Given the description of an element on the screen output the (x, y) to click on. 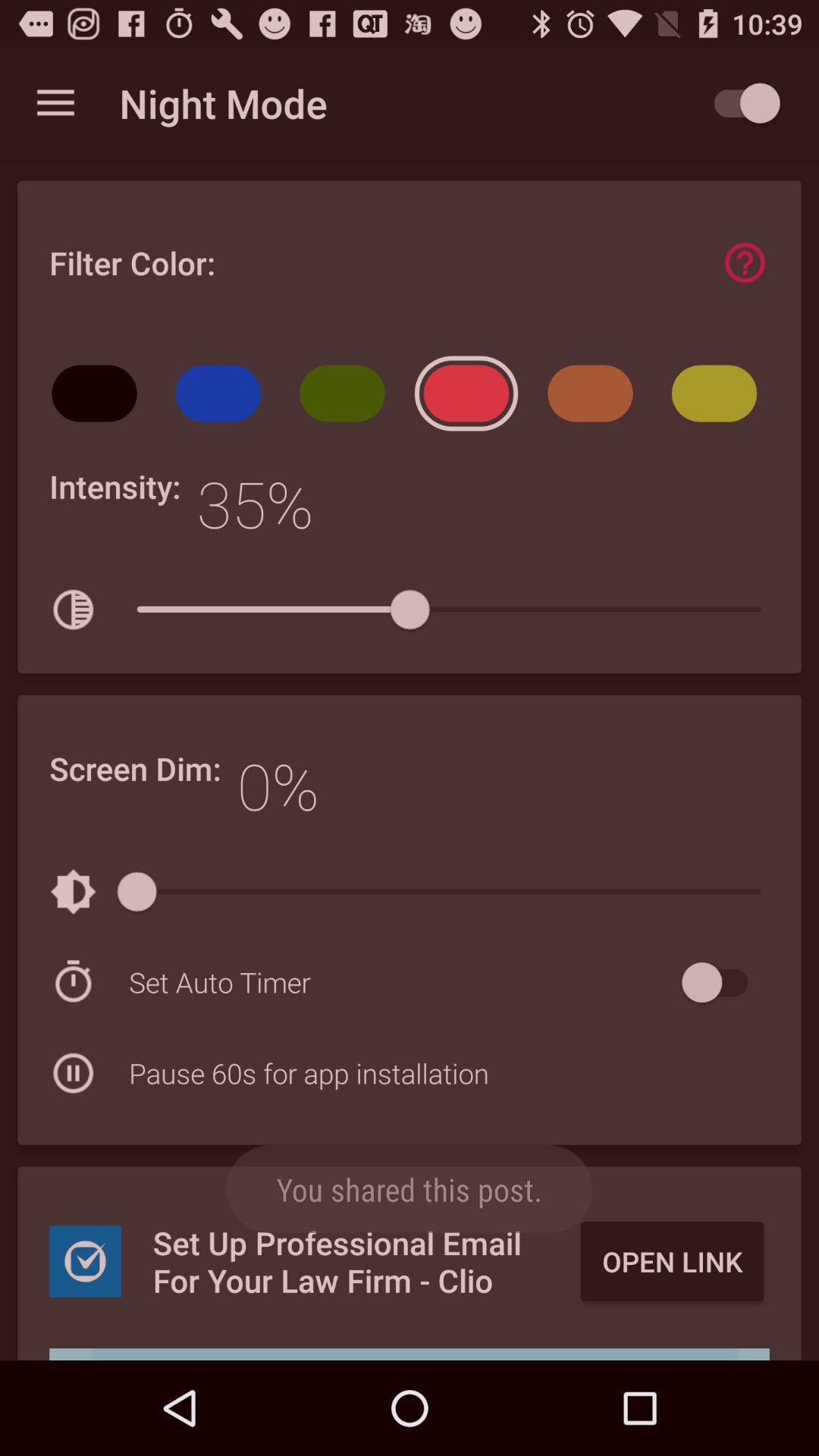
on or off night mode (739, 103)
